Given the description of an element on the screen output the (x, y) to click on. 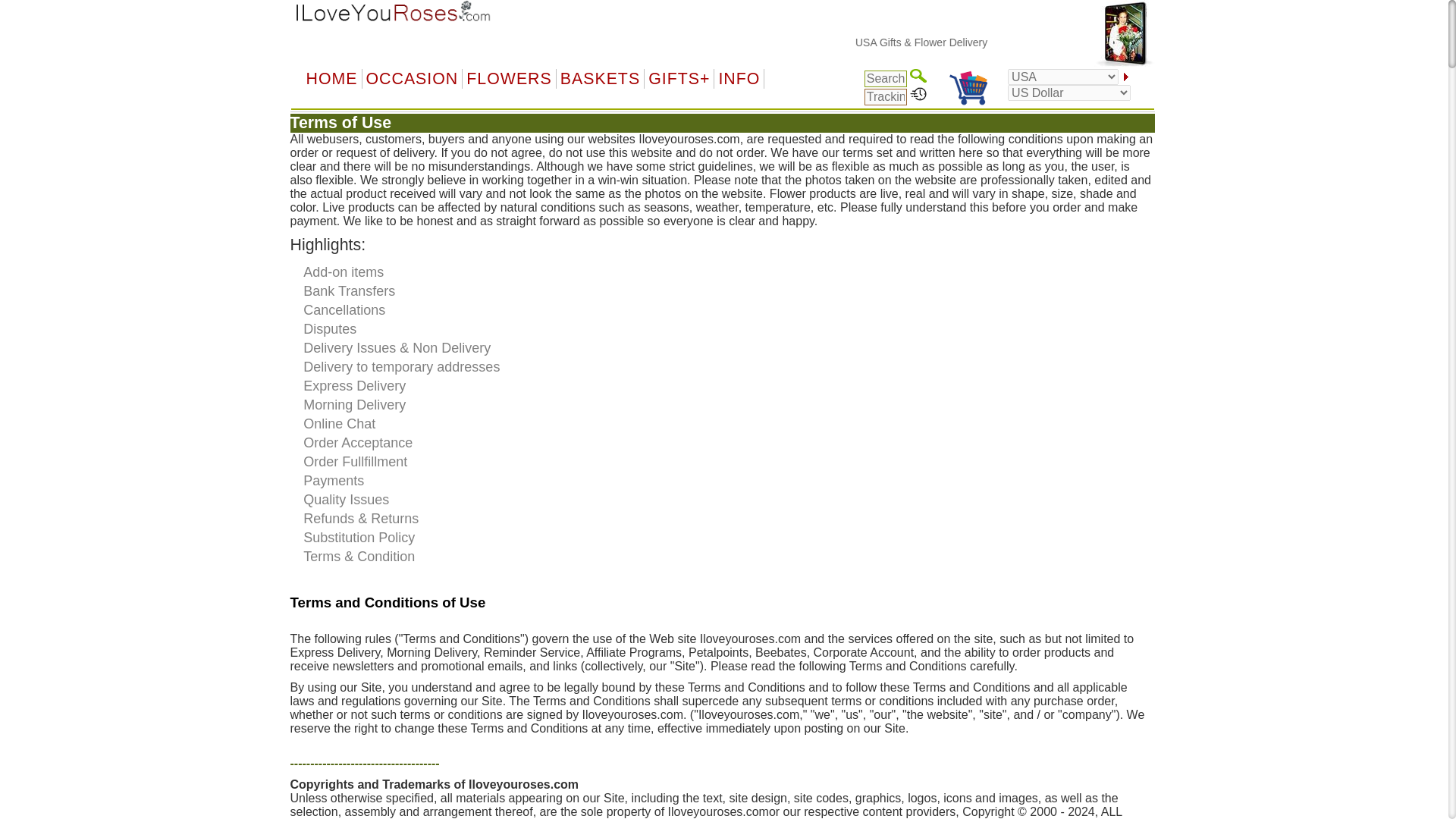
HOME (331, 78)
FLOWERS (509, 78)
OCCASION (412, 78)
